Given the description of an element on the screen output the (x, y) to click on. 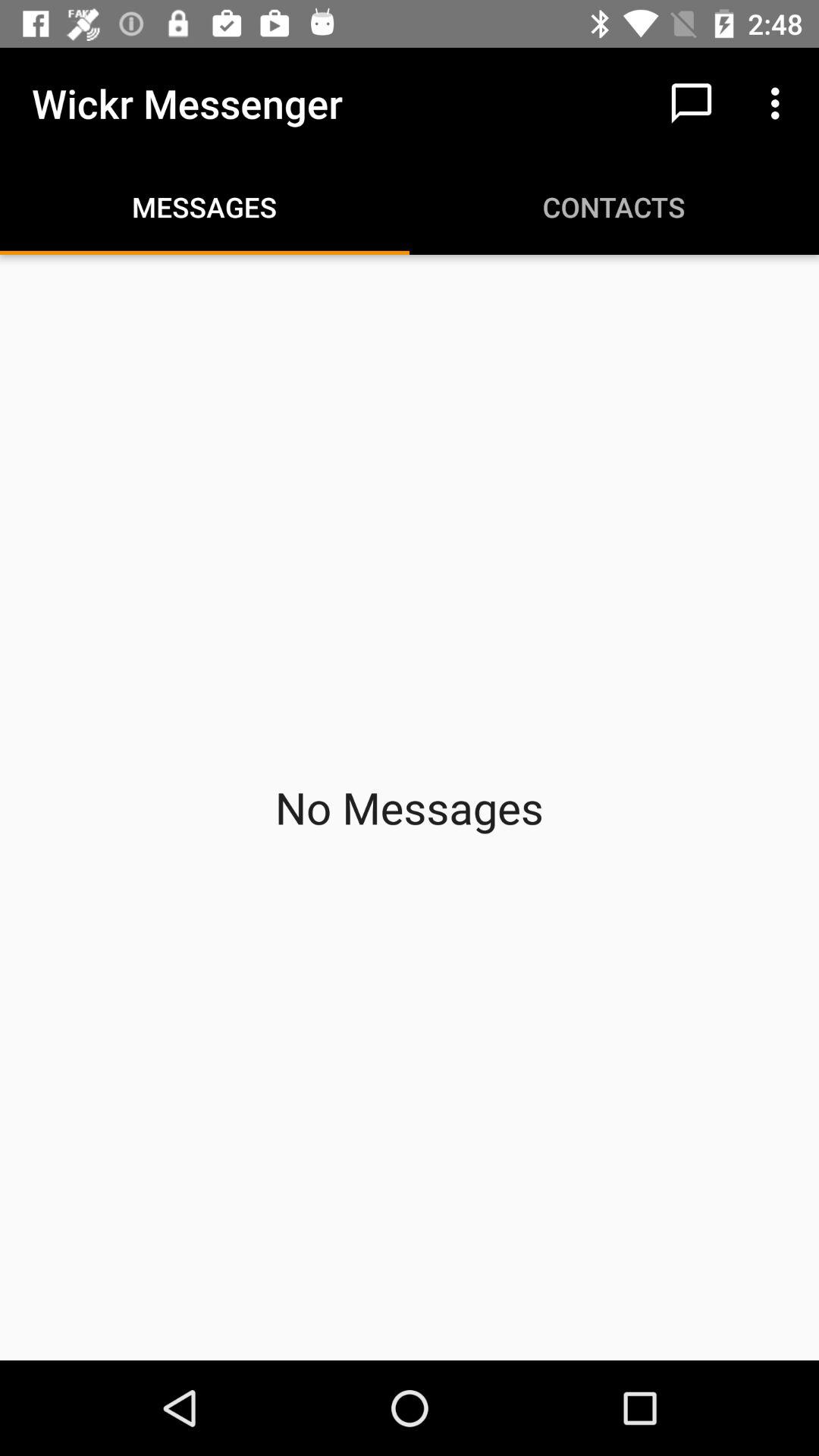
click app to the right of the wickr messenger item (691, 103)
